Given the description of an element on the screen output the (x, y) to click on. 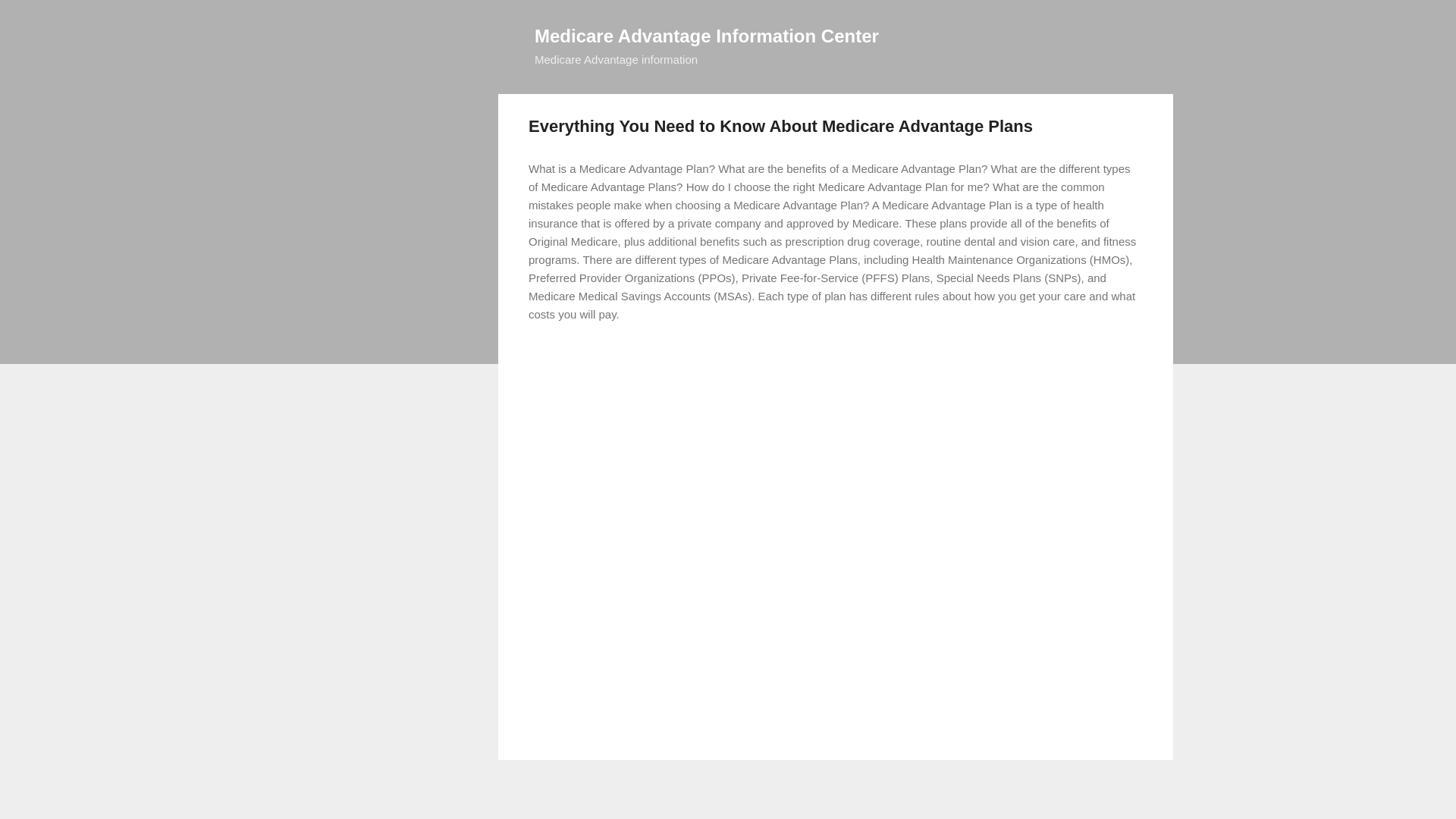
Email Post (567, 365)
Medicare Advantage Information Center (706, 35)
Search (29, 18)
